Given the description of an element on the screen output the (x, y) to click on. 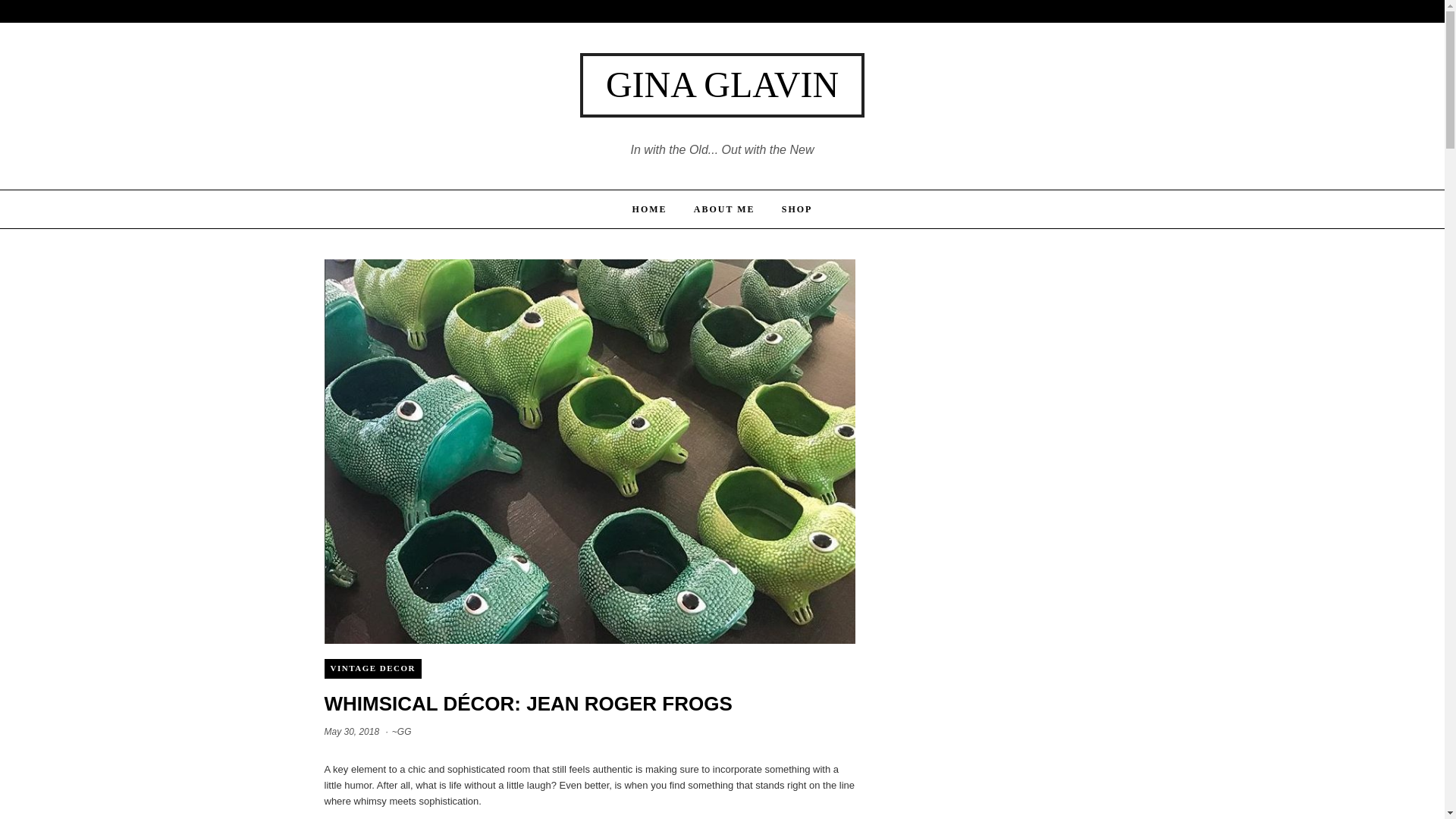
SHOP (797, 209)
Vintage Decor (373, 668)
ABOUT ME (724, 209)
HOME (649, 209)
GINA GLAVIN (721, 85)
GINA GLAVIN (721, 85)
VINTAGE DECOR (373, 668)
